Given the description of an element on the screen output the (x, y) to click on. 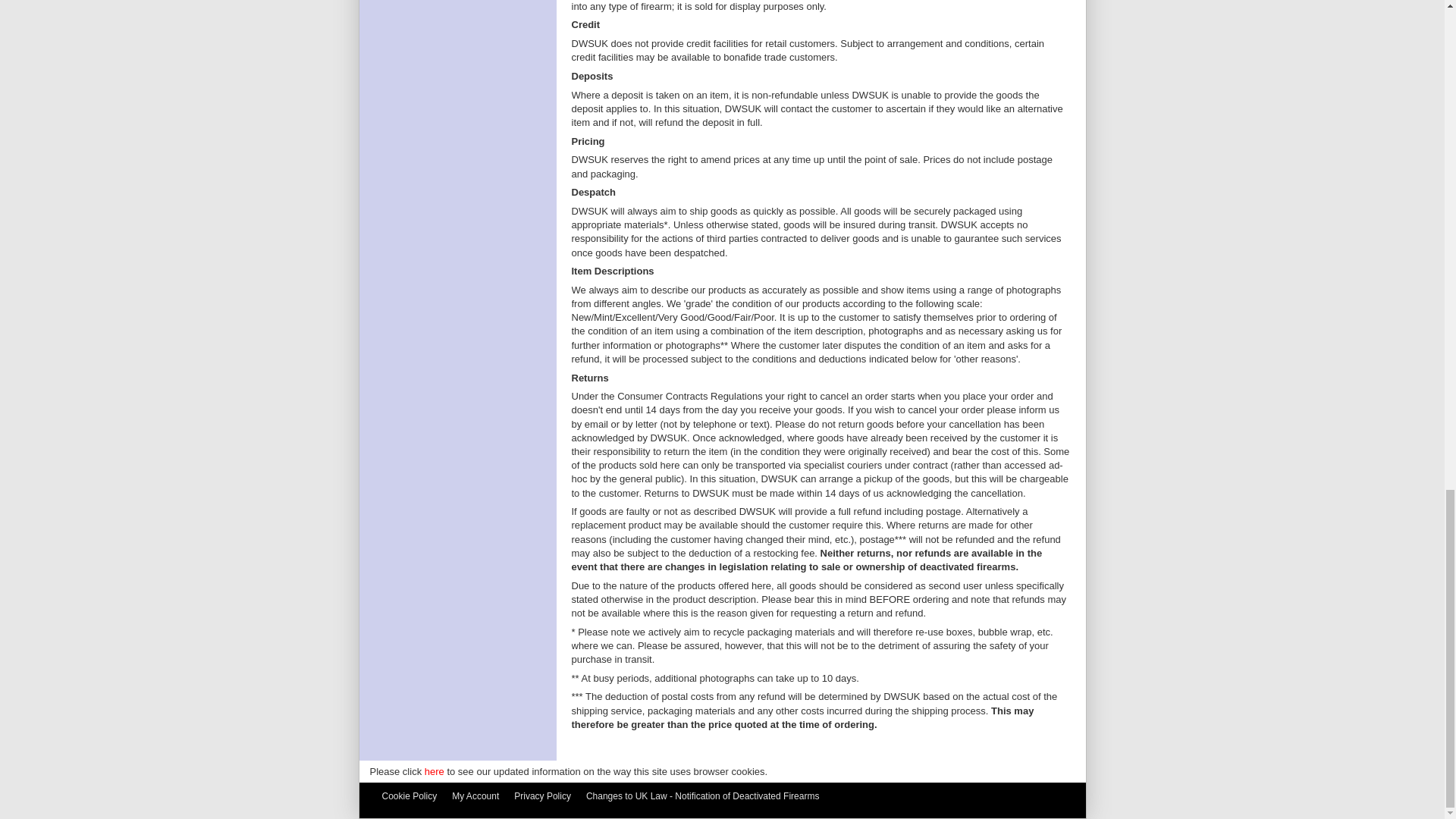
Cookie Policy (413, 796)
Privacy Policy (545, 796)
here (434, 771)
My Account (478, 796)
Changes to UK Law - Notification of Deactivated Firearms (706, 796)
